Given the description of an element on the screen output the (x, y) to click on. 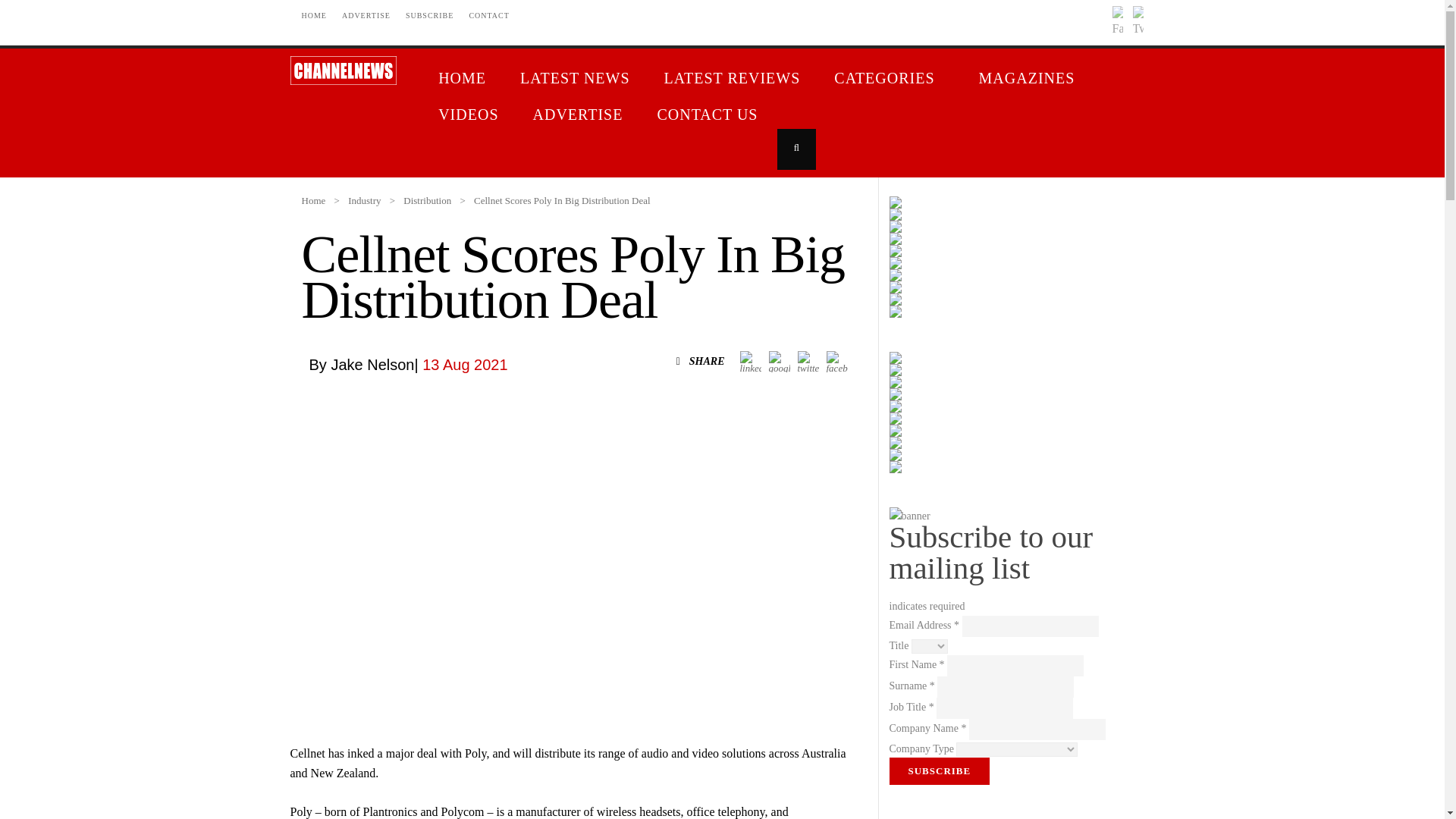
CONTACT (488, 15)
Subscribe (939, 770)
CATEGORIES (890, 80)
Posts by Jake Nelson (371, 364)
ADVERTISE (366, 15)
SUBSCRIBE (429, 15)
LATEST NEWS (577, 80)
HOME (464, 80)
LATEST REVIEWS (734, 80)
HOME (313, 15)
